Given the description of an element on the screen output the (x, y) to click on. 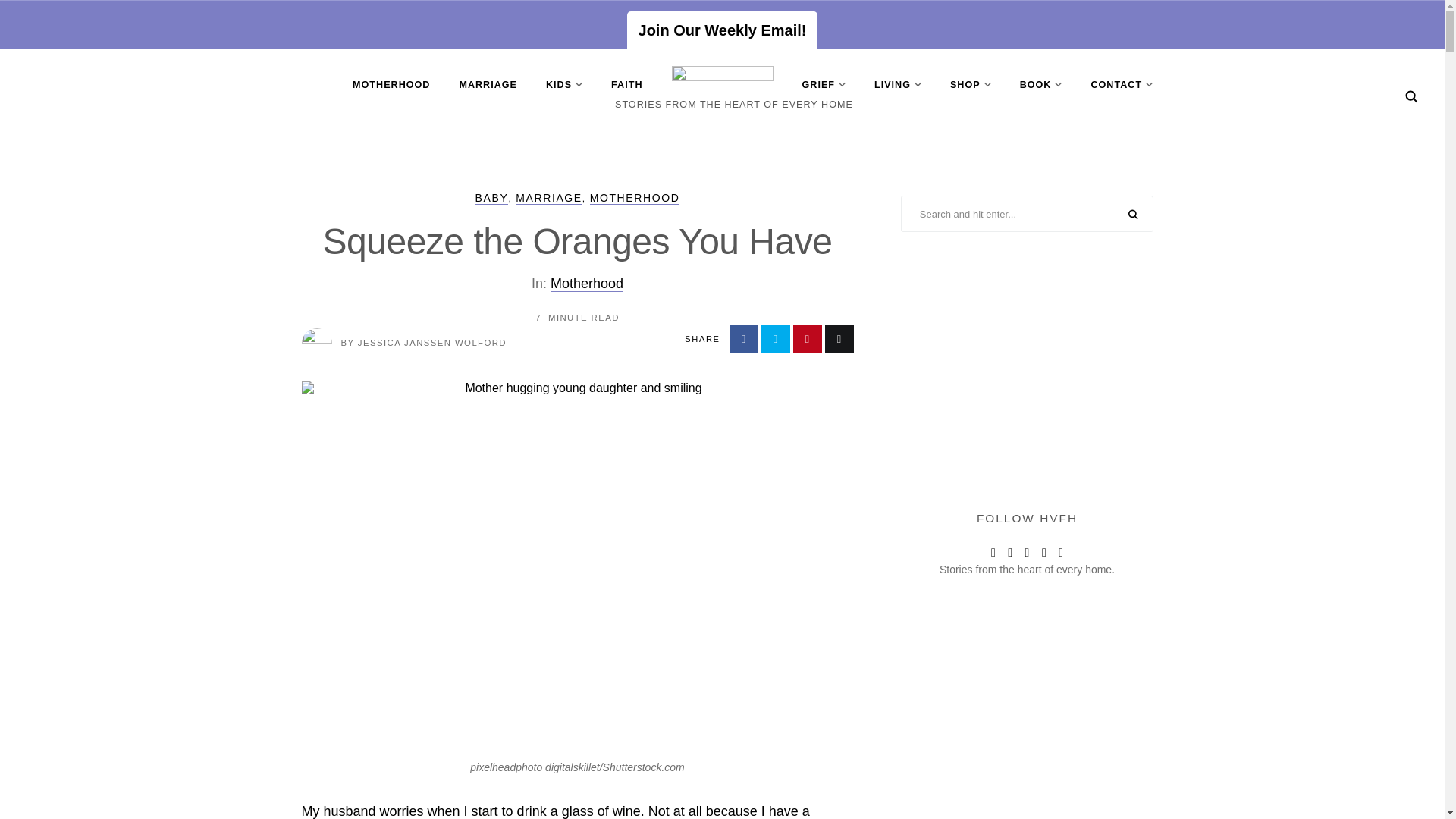
SEARCH (1133, 214)
Share by Email (839, 338)
Share on Facebook (743, 338)
Share on Twitter (775, 338)
Search (1411, 96)
Share on Pinterest (807, 338)
